Given the description of an element on the screen output the (x, y) to click on. 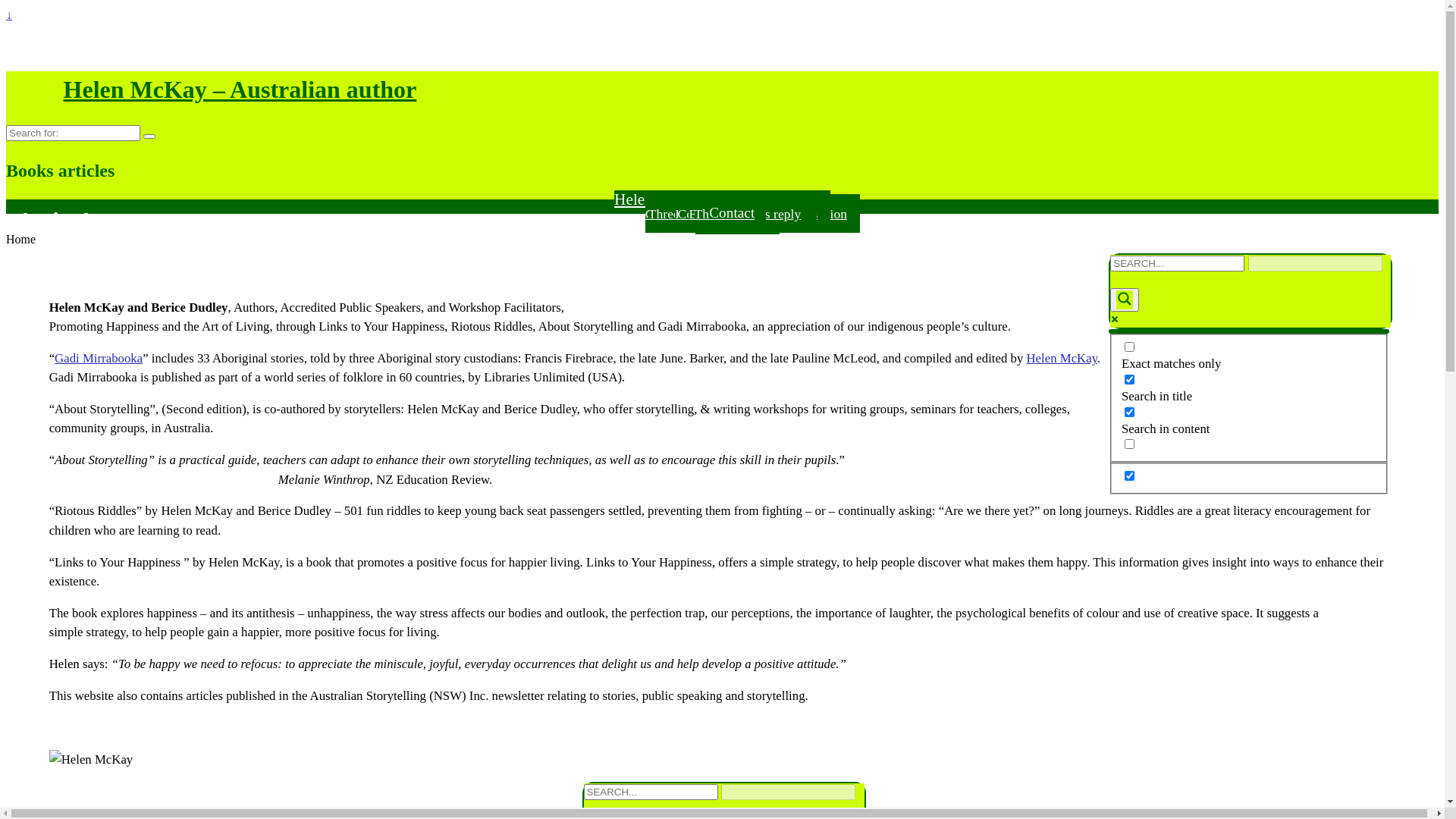
Berice Dudley Element type: text (752, 213)
Workshops Element type: text (737, 212)
Rhyme, Rhythm, and Repetition Element type: text (752, 213)
Daisy Chains Element type: text (752, 213)
Blog Element type: text (736, 212)
Gadi Mirrabooka Element type: text (752, 213)
Helen McKay Element type: text (1061, 358)
Bio Element type: text (737, 212)
Stories Element type: text (736, 212)
Start search Element type: text (1116, 274)
Home Element type: text (737, 212)
Adapting Stories Element type: text (752, 213)
Building a Repertoire Element type: text (752, 213)
Contributors to Happiness Element type: text (752, 213)
Riotous Riddles Element type: text (752, 213)
Links to Your Happiness Element type: text (752, 213)
Books Element type: text (736, 212)
Gadi Mirrabooka Element type: text (98, 358)
The Happy Book Element type: text (752, 213)
A revelation Element type: text (752, 213)
Three Rs: Rhyme, Rythm, Repetition Element type: text (752, 213)
Glimpse Ahead, Future of Storytelling Element type: text (752, 213)
Types of Story Element type: text (752, 213)
What is a Story Element type: text (752, 213)
About Helen Element type: text (752, 213)
Living with Lymphoedema Element type: text (752, 213)
Feedback Element type: text (767, 213)
What is Storytelling 1 Element type: text (751, 213)
Contact Element type: text (737, 212)
About Storytelling Element type: text (752, 213)
Bicky Element type: text (752, 213)
Helen McKay - Australian author Element type: text (722, 199)
Start search Element type: text (589, 802)
Messages in Stories Element type: text (752, 213)
Feedback Element type: text (752, 213)
Master Time Element type: text (752, 213)
Bill and the Miracle Element type: text (751, 213)
Aboriginal Stories Element type: text (752, 213)
Helen McKay Element type: text (751, 213)
Graham Langley Interview Element type: text (752, 213)
Charles Dickens Moment Element type: text (752, 213)
Adapting Stories for Telling Element type: text (752, 213)
Articles Element type: text (737, 212)
